Given the description of an element on the screen output the (x, y) to click on. 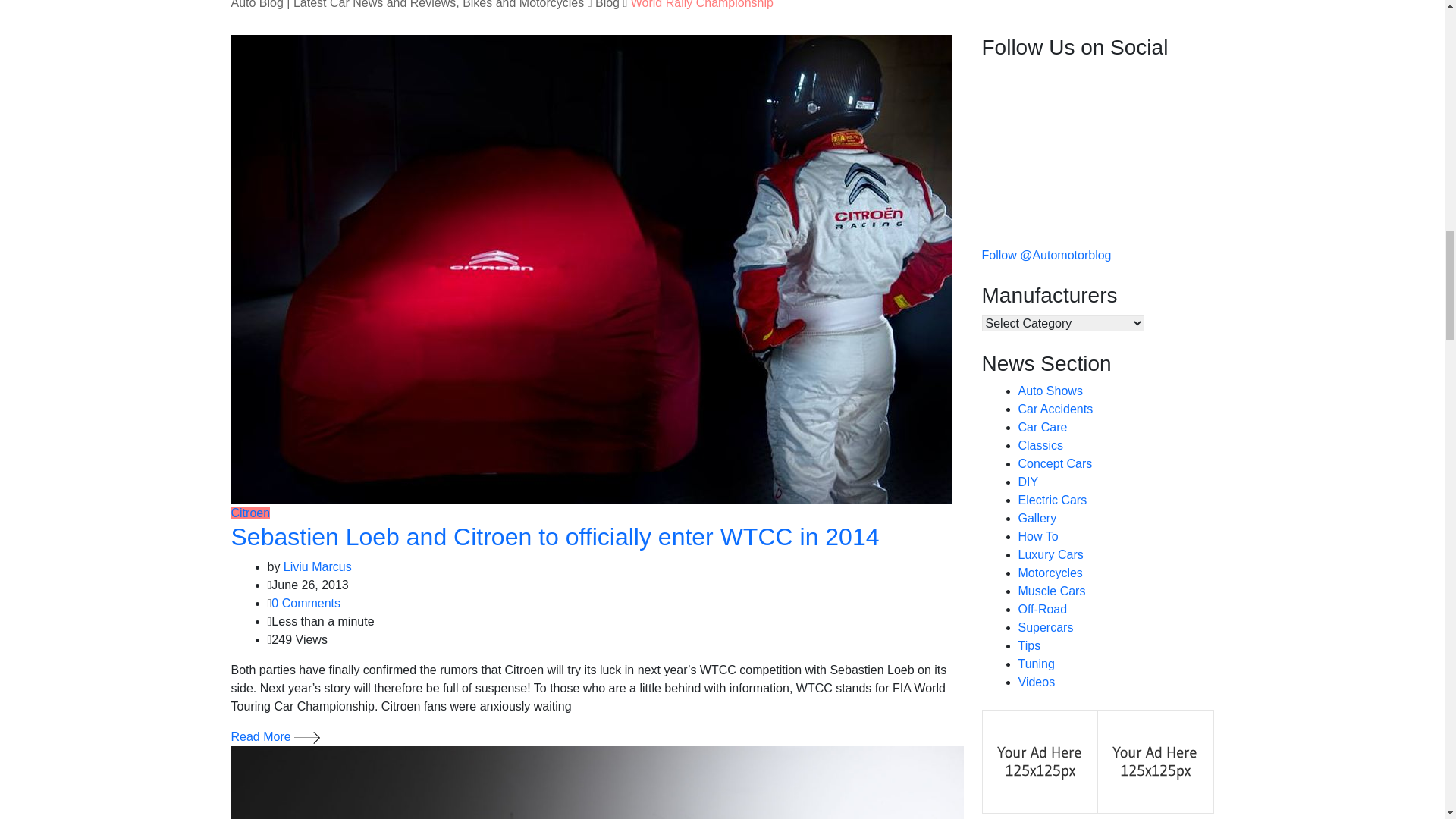
Advertise (1039, 760)
Advertise (1155, 760)
Go to Blog. (607, 4)
Posts by Liviu Marcus (317, 566)
